Given the description of an element on the screen output the (x, y) to click on. 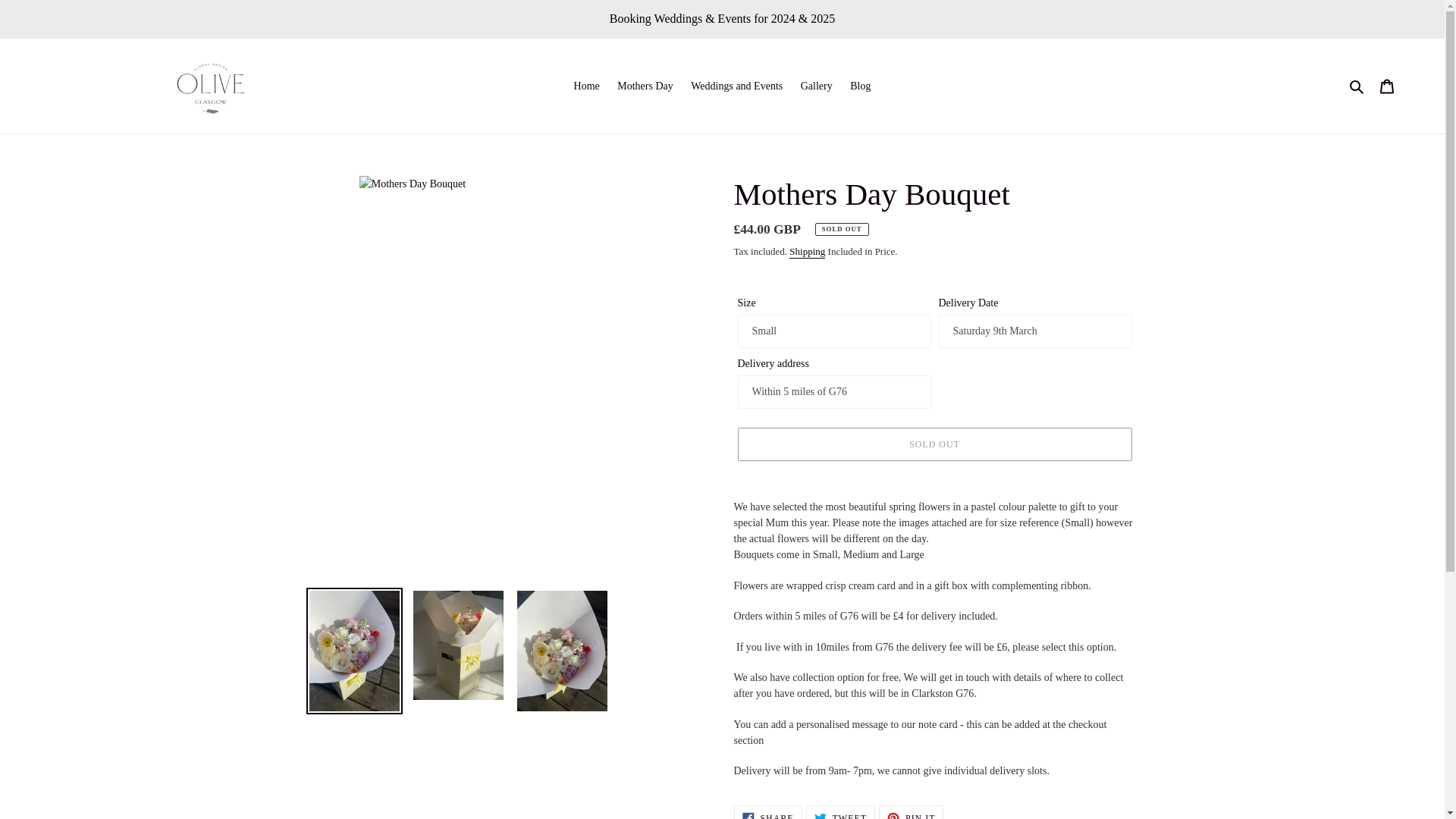
Gallery (816, 86)
SOLD OUT (767, 812)
Mothers Day (933, 444)
Home (645, 86)
Blog (586, 86)
Shipping (860, 86)
Cart (807, 251)
Weddings and Events (1387, 86)
Search (736, 86)
